Given the description of an element on the screen output the (x, y) to click on. 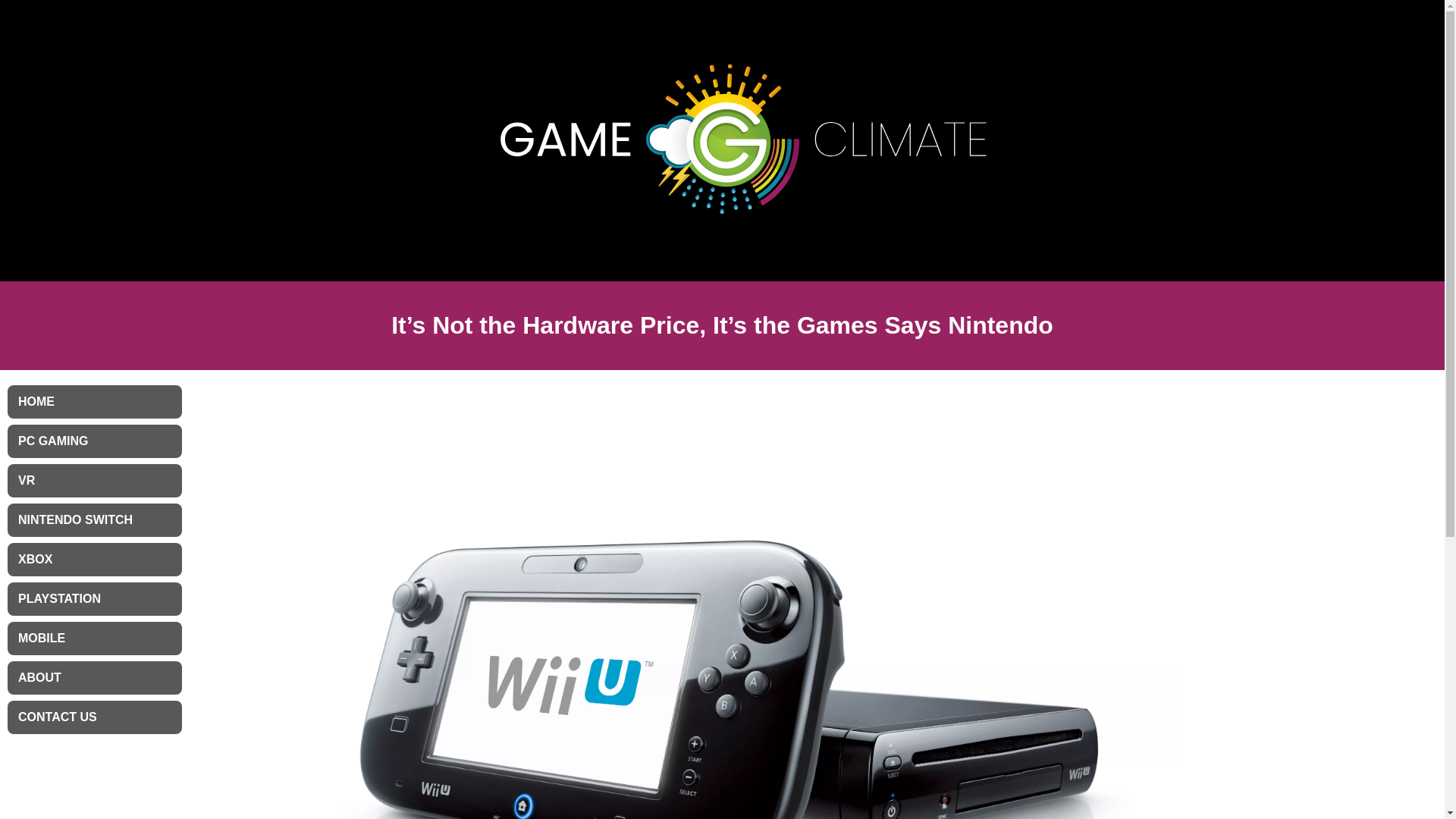
VR (94, 480)
MOBILE (94, 638)
PC GAMING (94, 441)
NINTENDO SWITCH (94, 520)
CONTACT US (94, 717)
ABOUT (94, 677)
XBOX (94, 559)
PLAYSTATION (94, 598)
HOME (94, 401)
